Given the description of an element on the screen output the (x, y) to click on. 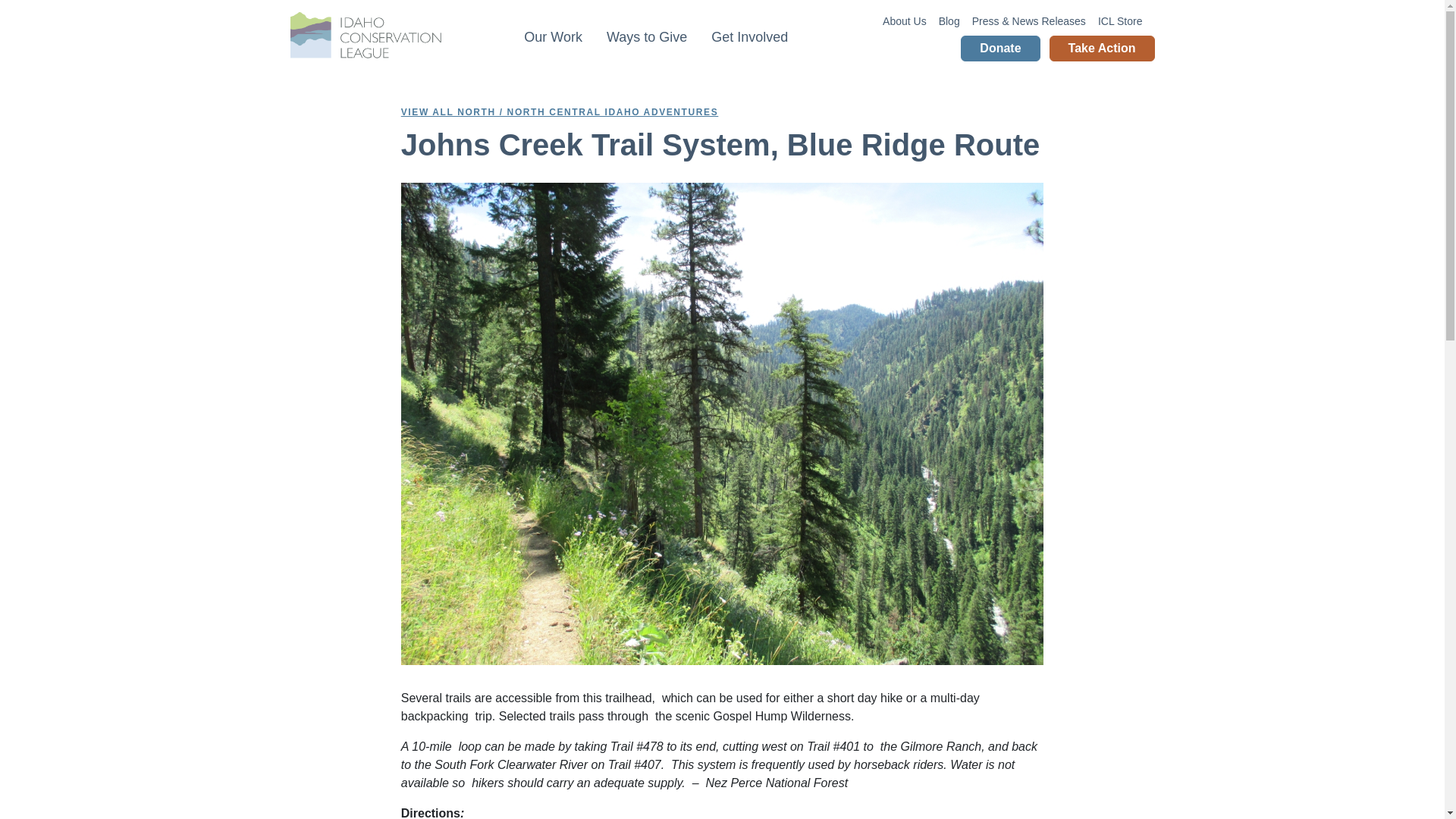
About Us (904, 21)
Take Action (1101, 48)
Ways to Give (646, 37)
Blog (949, 21)
Our Work (553, 37)
ICL Store (1119, 21)
Donate (999, 48)
Get Involved (748, 37)
